Given the description of an element on the screen output the (x, y) to click on. 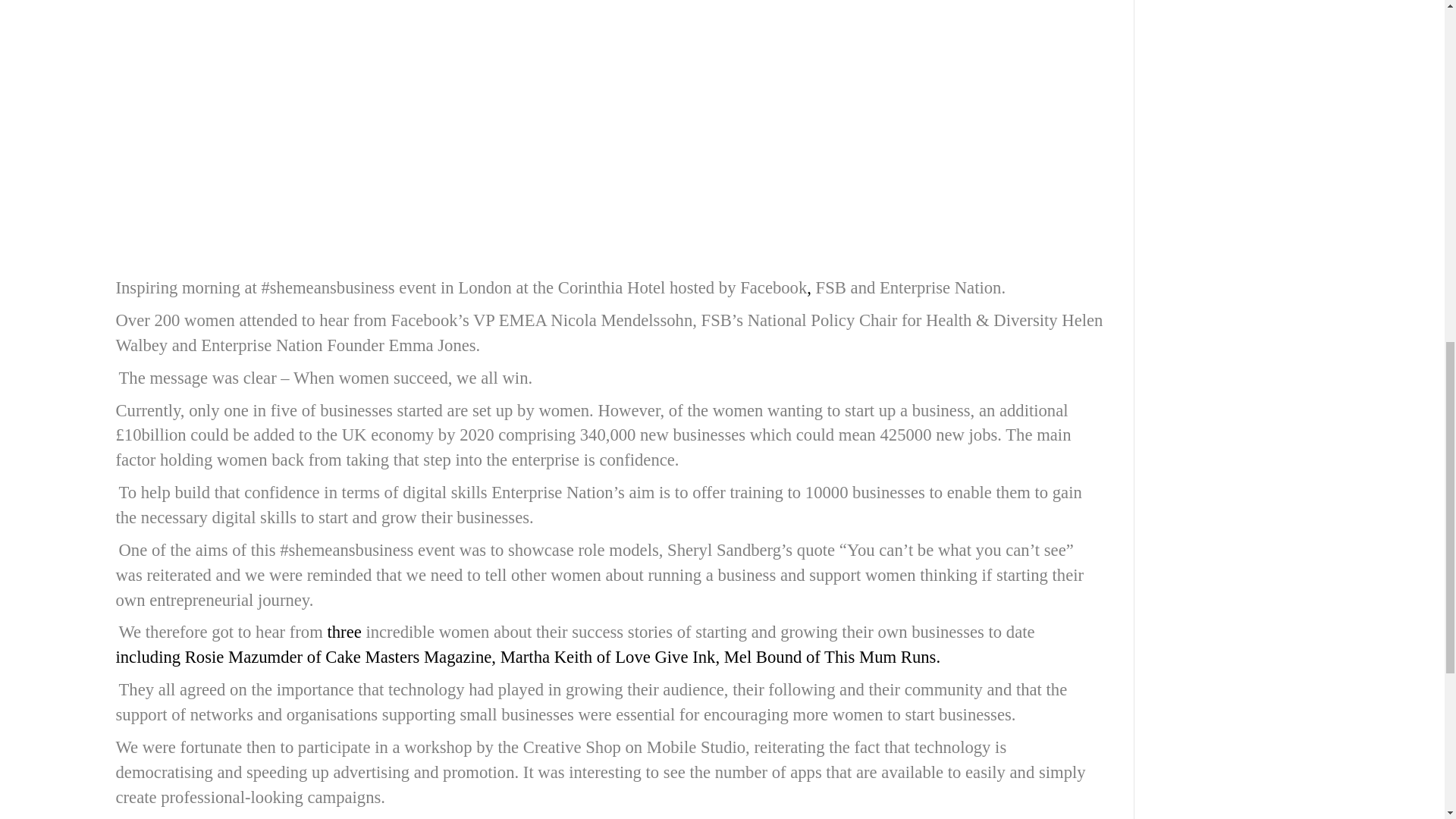
Love Give Ink (664, 656)
This Mum Runs (880, 656)
Cake Masters Magazine (408, 656)
